Given the description of an element on the screen output the (x, y) to click on. 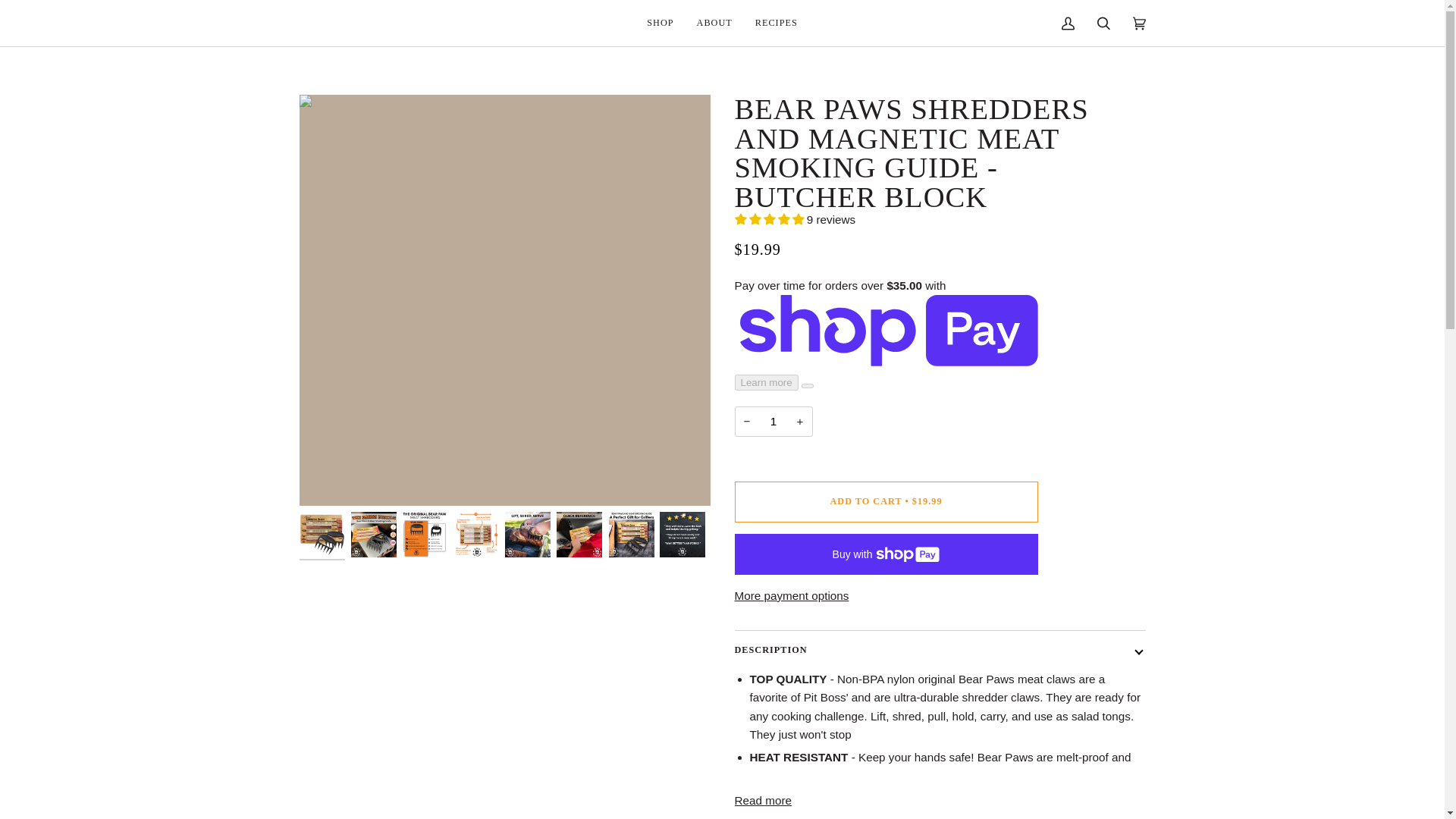
SHOP (659, 22)
RECIPES (776, 22)
1 (772, 421)
ABOUT (714, 22)
